Given the description of an element on the screen output the (x, y) to click on. 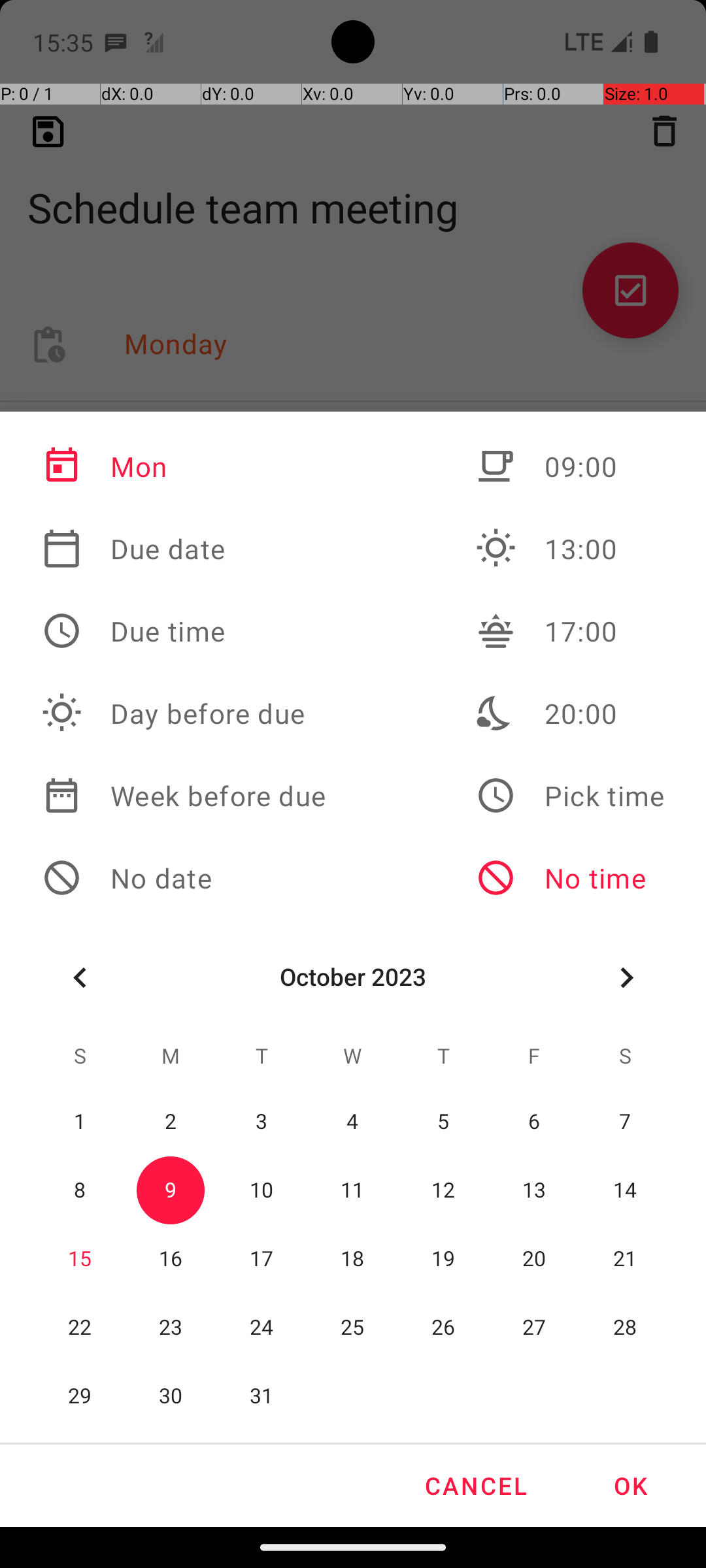
Due date Element type: android.widget.CompoundButton (183, 548)
Due time Element type: android.widget.CompoundButton (183, 630)
Day before due Element type: android.widget.CompoundButton (183, 713)
Week before due Element type: android.widget.CompoundButton (183, 795)
